Given the description of an element on the screen output the (x, y) to click on. 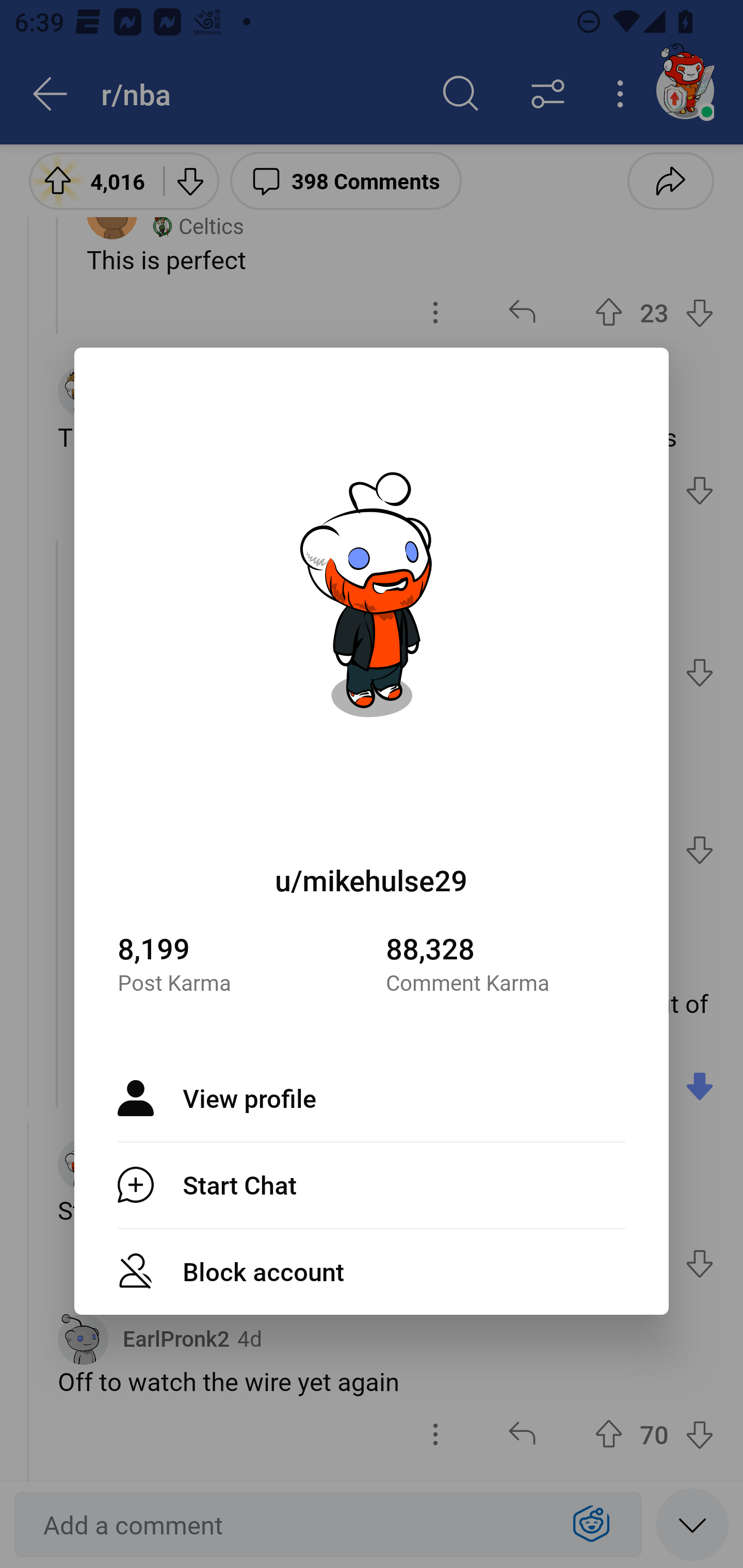
u/mikehulse29 (371, 880)
View profile (371, 1098)
Start Chat (371, 1184)
Block account (371, 1270)
